Given the description of an element on the screen output the (x, y) to click on. 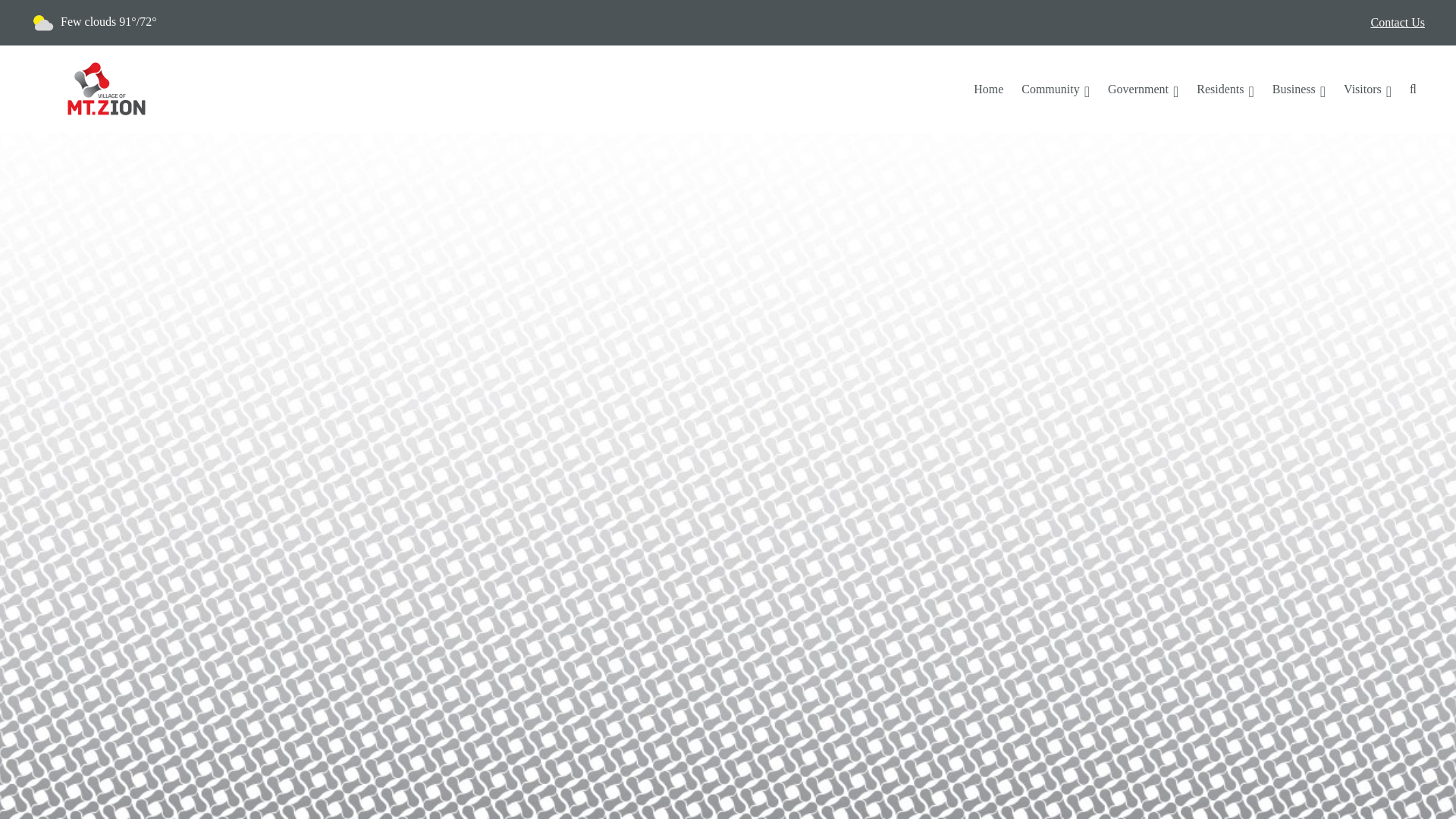
Community (1055, 89)
contains current page link (1299, 89)
Contact Us (1397, 22)
Home (987, 89)
Government (1143, 89)
